Given the description of an element on the screen output the (x, y) to click on. 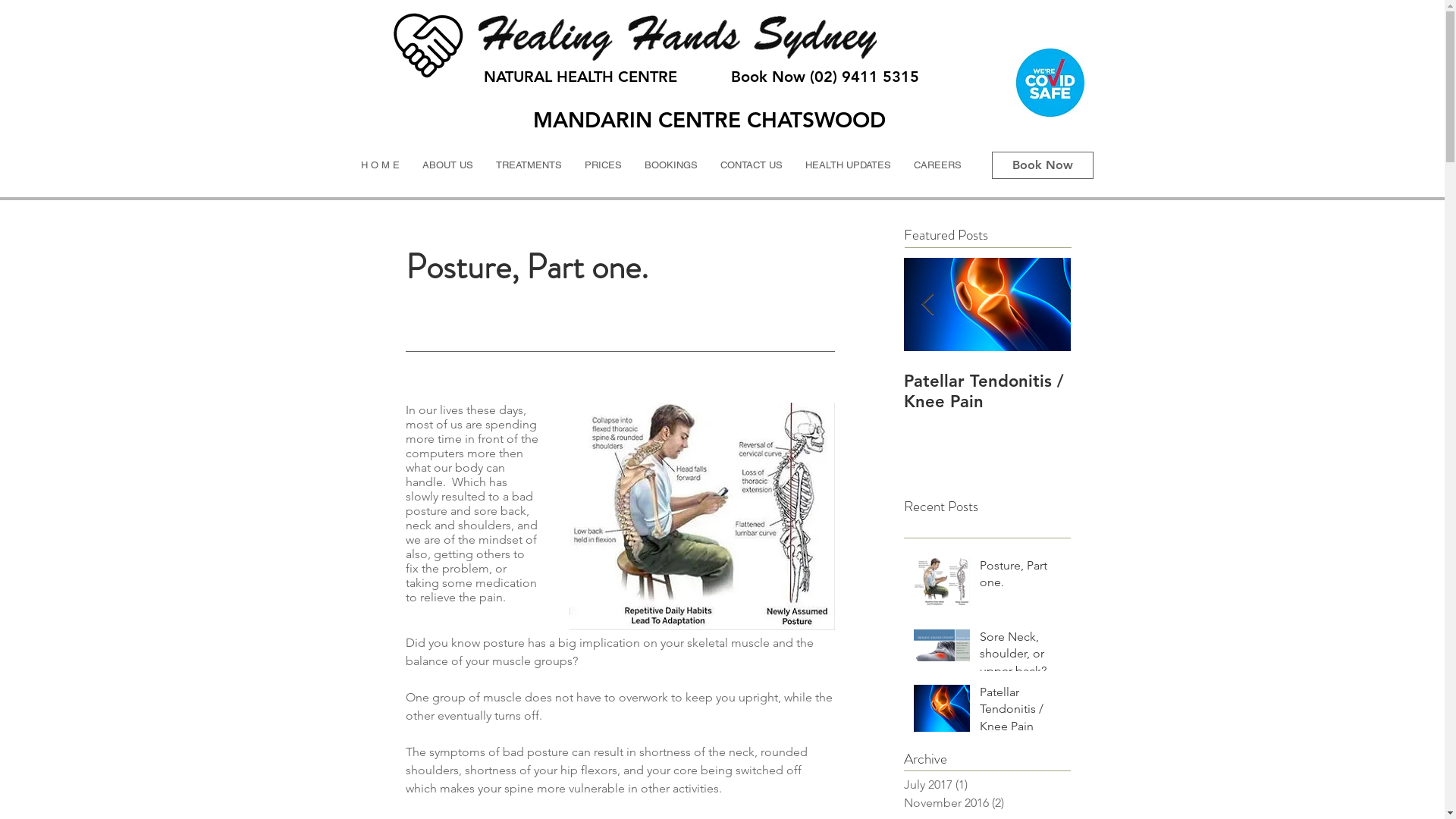
July 2017 (1) Element type: text (983, 784)
TREATMENTS Element type: text (527, 164)
Patellar Tendonitis / Knee Pain Element type: text (986, 390)
Patellar Tendonitis / Knee Pain Element type: text (1020, 712)
November 2016 (2) Element type: text (983, 802)
HEALTH UPDATES Element type: text (847, 164)
PRICES Element type: text (603, 164)
Posture, Part one. Element type: text (1020, 577)
BOOKINGS Element type: text (670, 164)
CONTACT US Element type: text (750, 164)
Posture, Part one. Element type: text (653, 380)
H O M E Element type: text (379, 164)
logo.png Element type: hover (428, 45)
Sore Neck, shoulder, or upper back? Element type: text (1020, 656)
Sore Neck, shoulder, or upper back? Element type: text (820, 390)
CAREERS Element type: text (937, 164)
ABOUT US Element type: text (447, 164)
Book Now Element type: text (1042, 164)
